Given the description of an element on the screen output the (x, y) to click on. 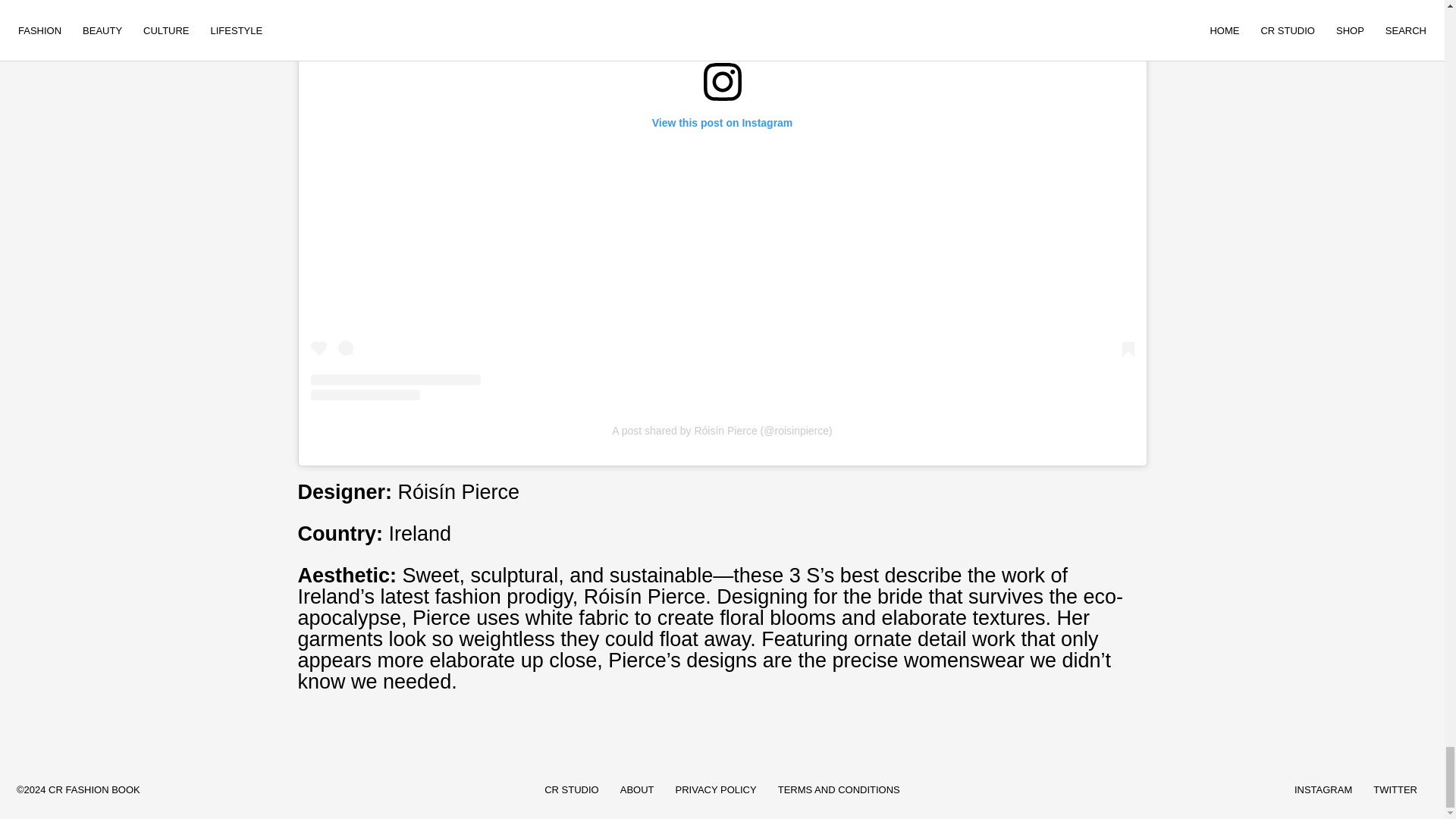
PRIVACY POLICY (716, 789)
TWITTER (1395, 789)
CR STUDIO (572, 789)
ABOUT (637, 789)
TERMS AND CONDITIONS (839, 789)
INSTAGRAM (1323, 789)
